Given the description of an element on the screen output the (x, y) to click on. 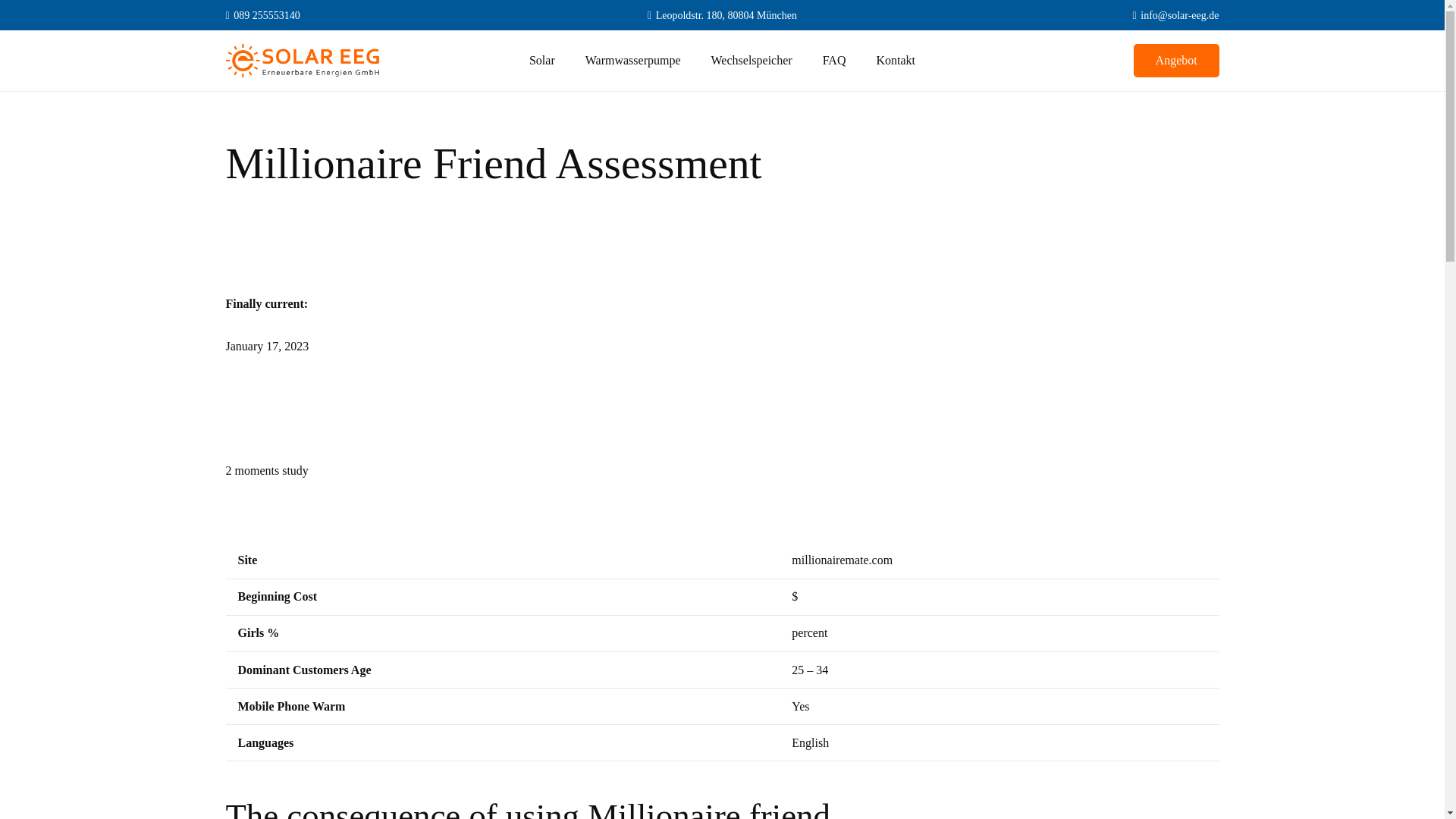
Warmwasserpumpe (632, 60)
Angebot (1177, 60)
Solar (541, 60)
089 255553140 (262, 14)
Kontakt (895, 60)
Wechselspeicher (751, 60)
